Given the description of an element on the screen output the (x, y) to click on. 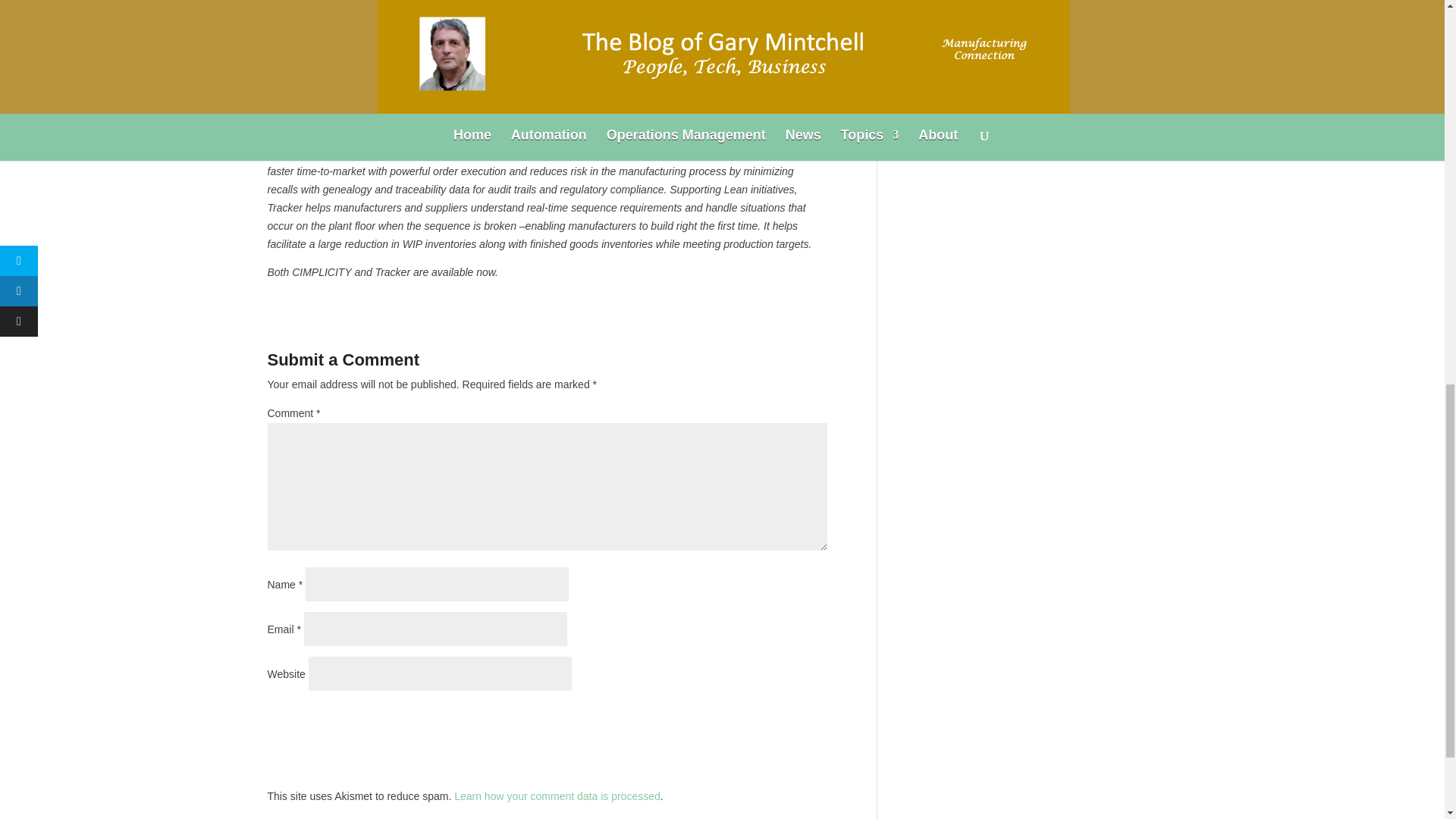
Learn how your comment data is processed (557, 796)
Submit Comment (752, 720)
Submit Comment (752, 720)
